Given the description of an element on the screen output the (x, y) to click on. 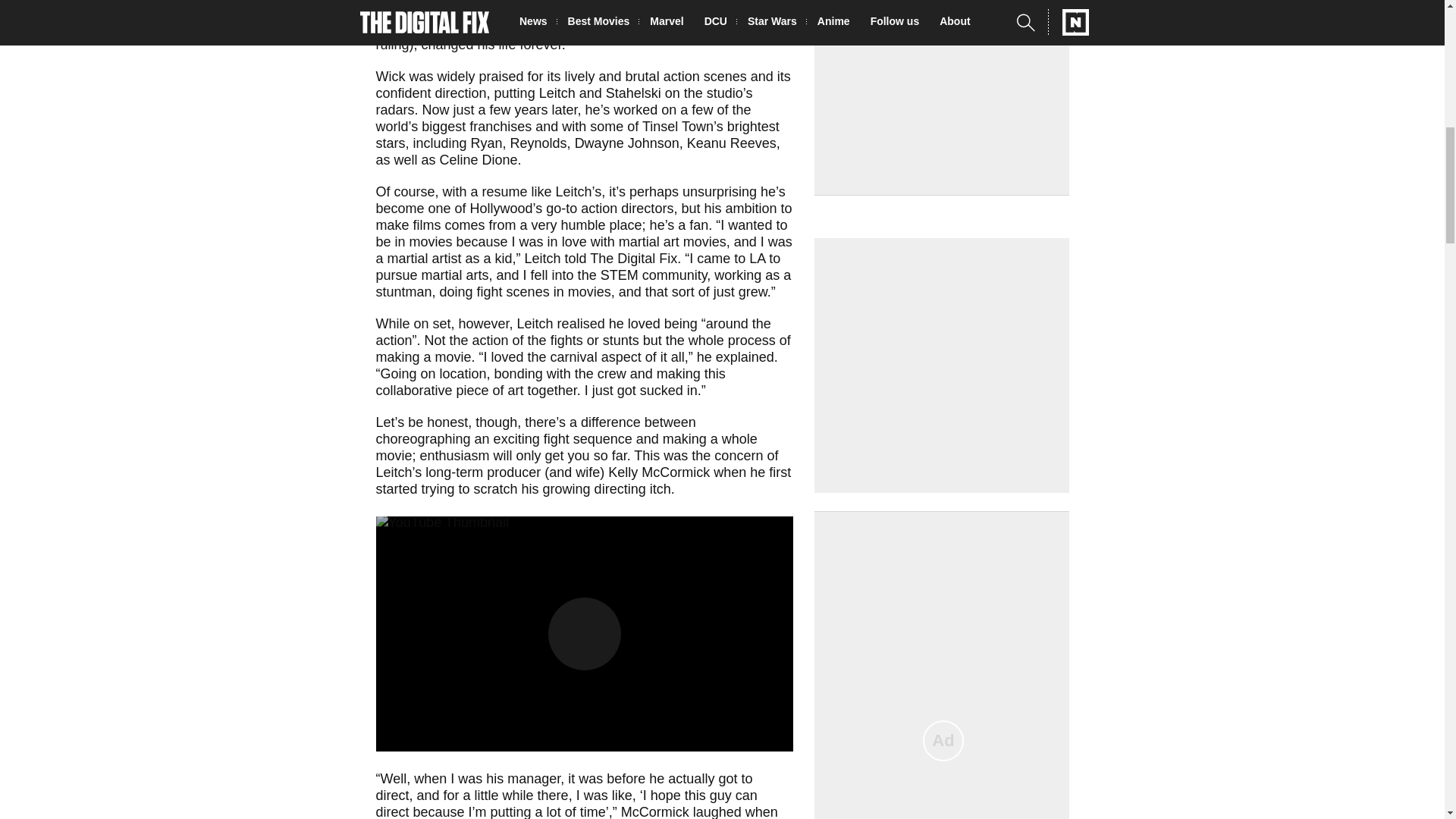
John Wick (447, 11)
action movie (579, 9)
Dwayne Johnson (627, 142)
